Given the description of an element on the screen output the (x, y) to click on. 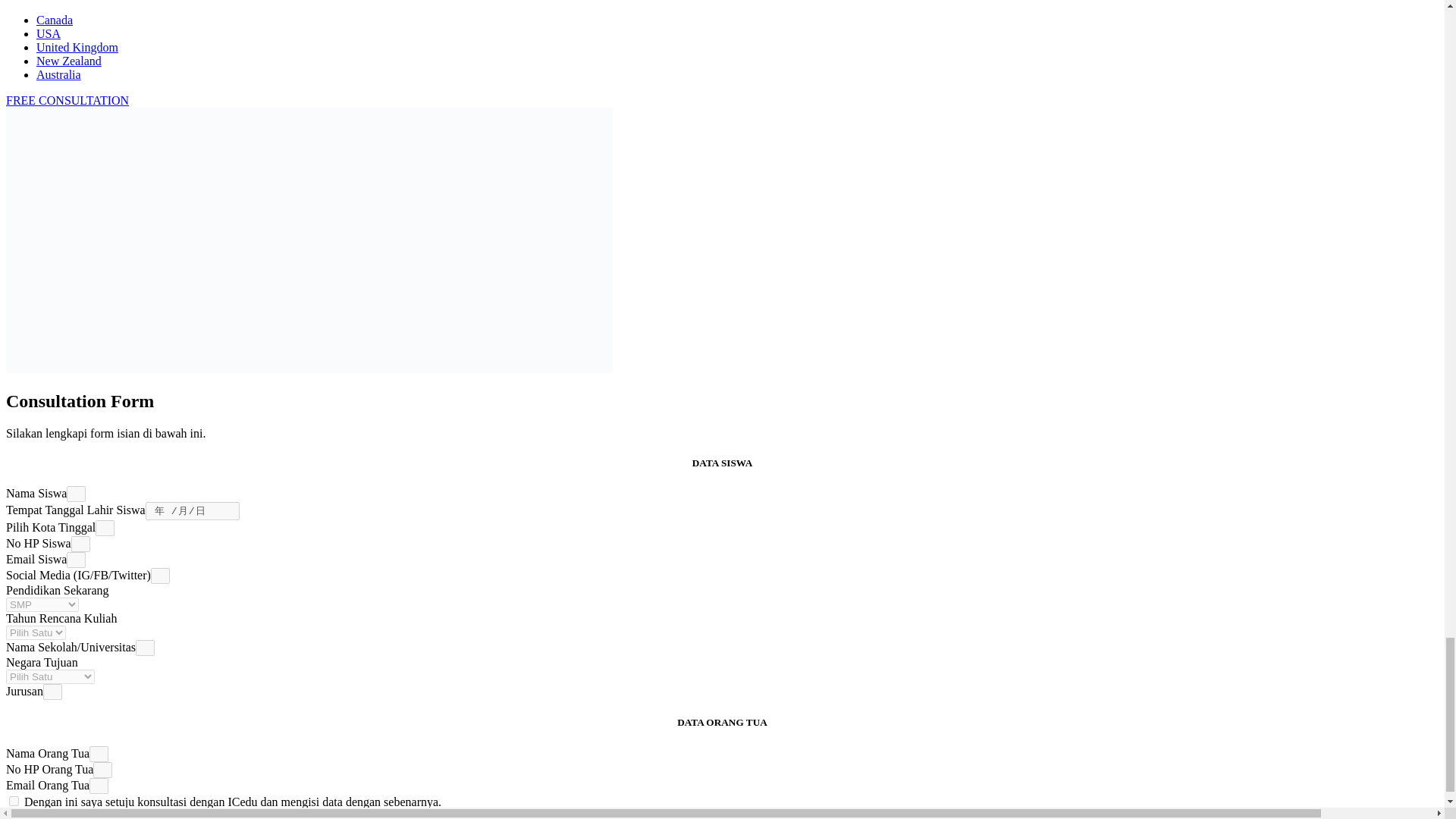
on (13, 800)
